Given the description of an element on the screen output the (x, y) to click on. 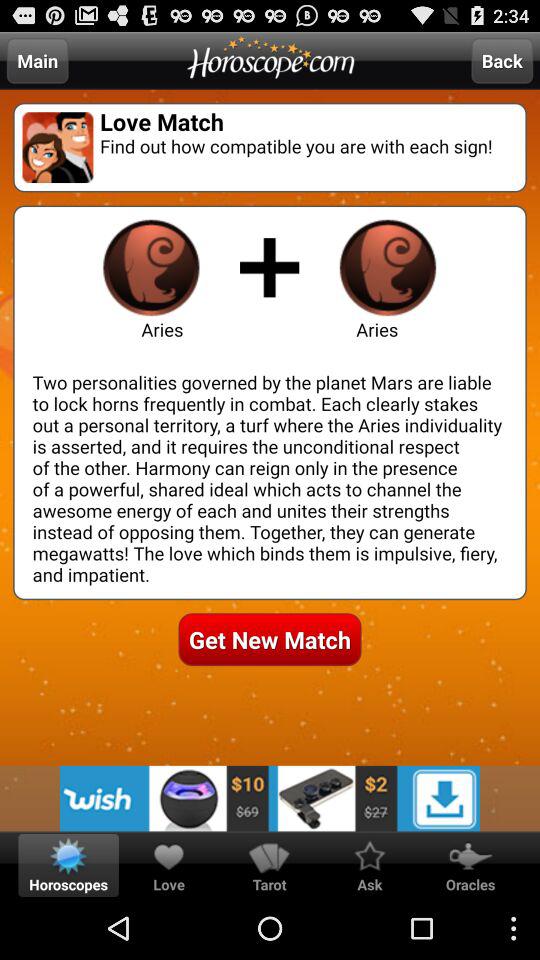
go to aries (151, 267)
